Given the description of an element on the screen output the (x, y) to click on. 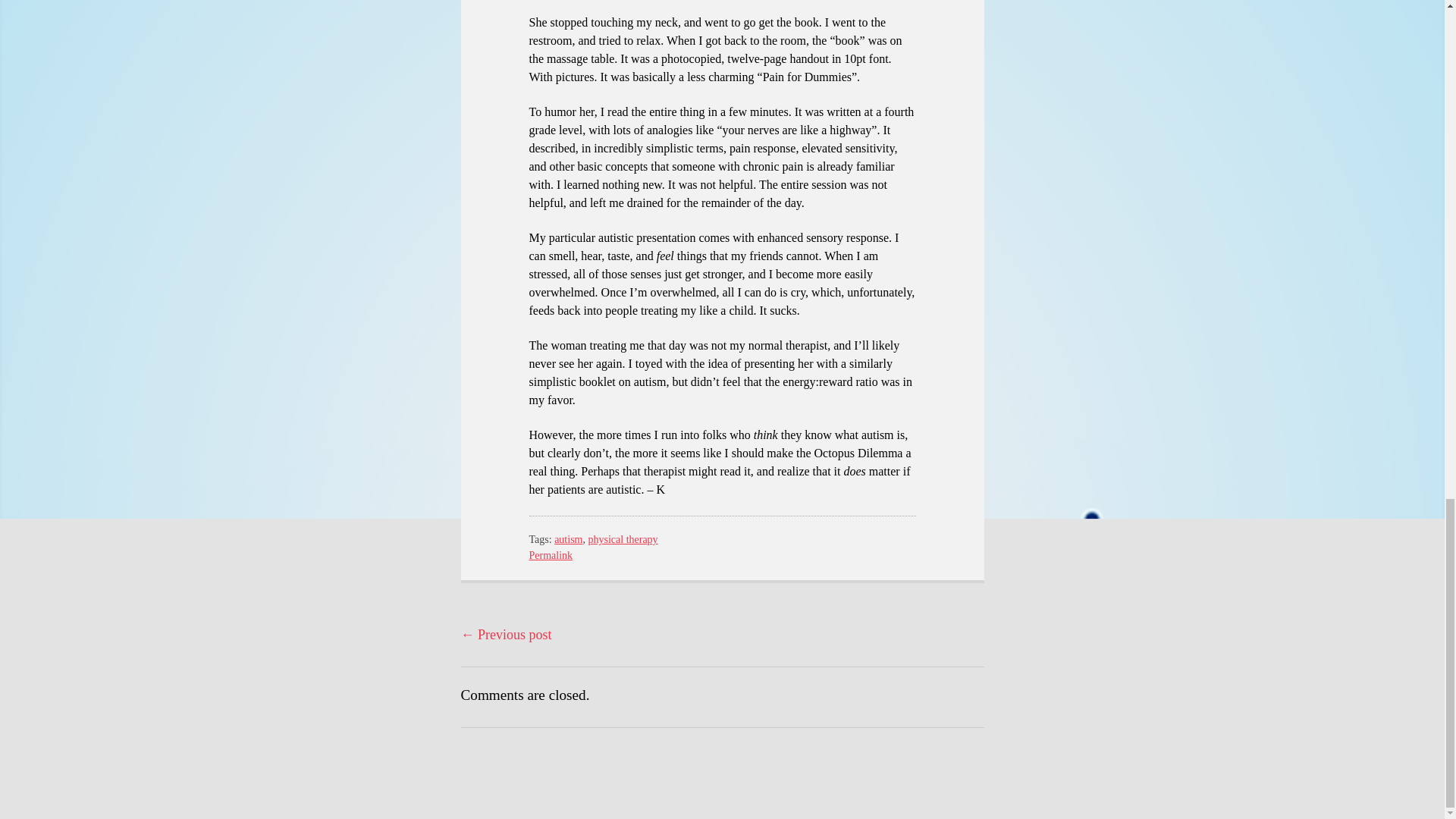
physical therapy (623, 539)
Permalink (551, 555)
autism (568, 539)
